Given the description of an element on the screen output the (x, y) to click on. 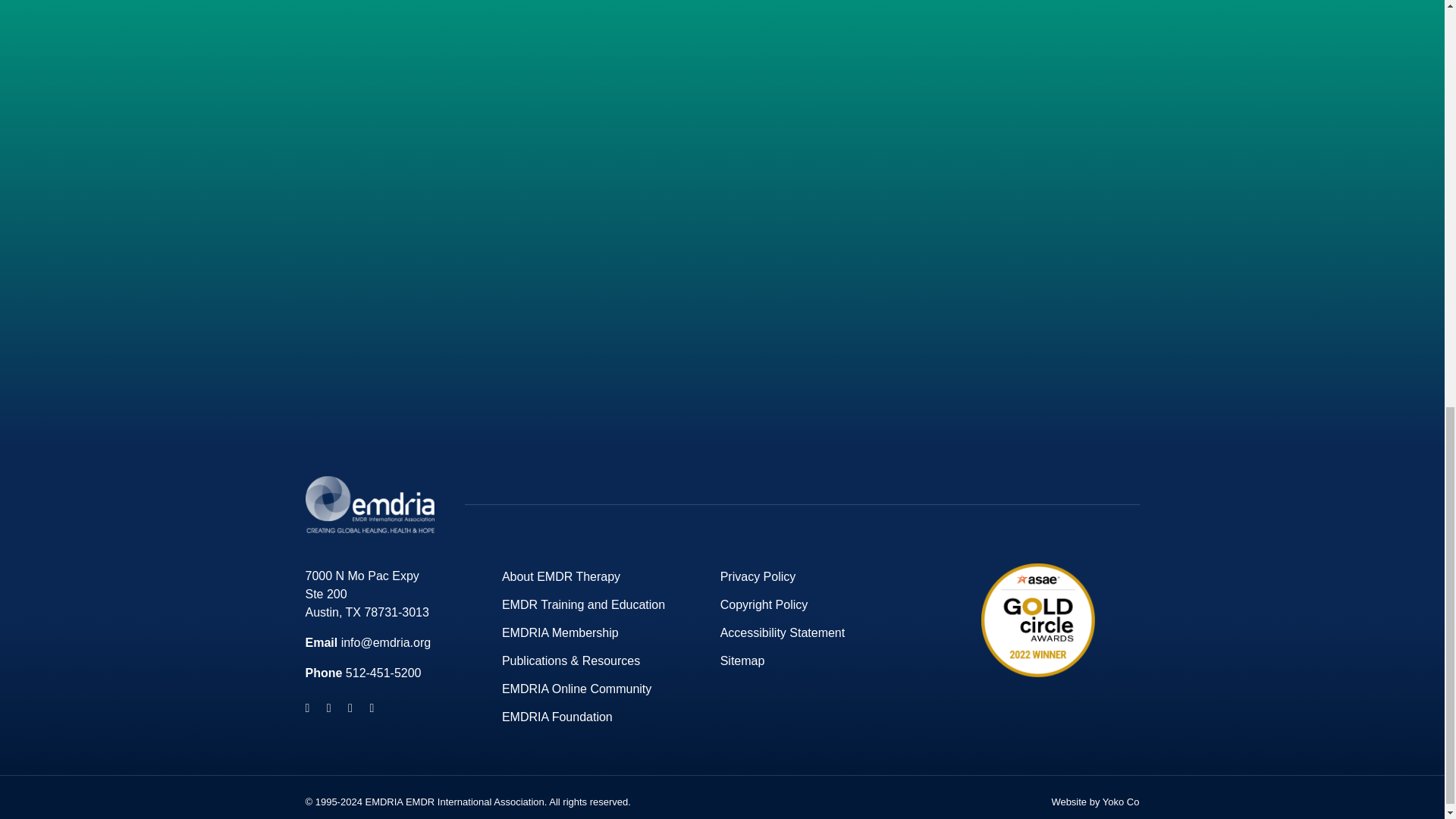
logo-emdria-grayscale-min (368, 504)
gold-circle-2022 (1037, 619)
